Given the description of an element on the screen output the (x, y) to click on. 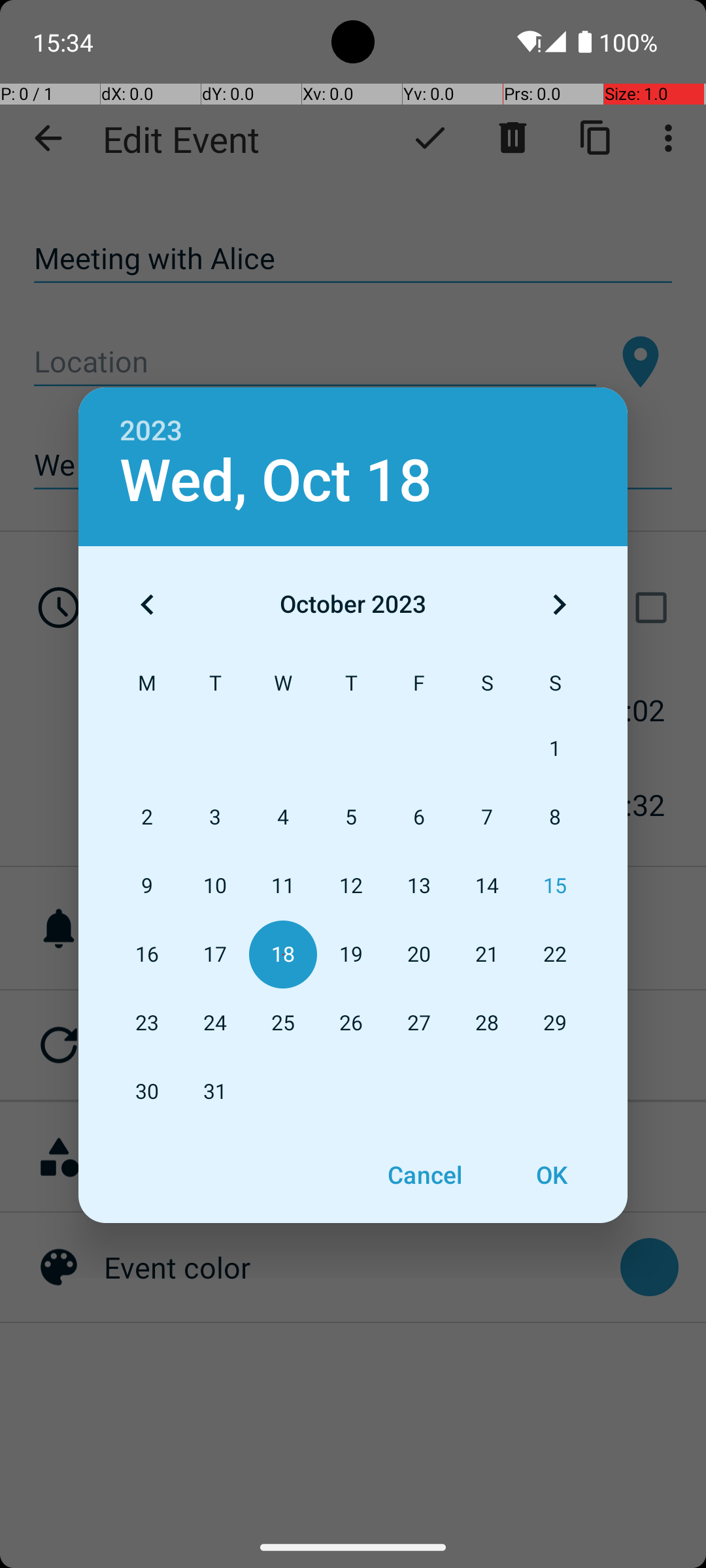
Wed, Oct 18 Element type: android.widget.TextView (275, 480)
